Given the description of an element on the screen output the (x, y) to click on. 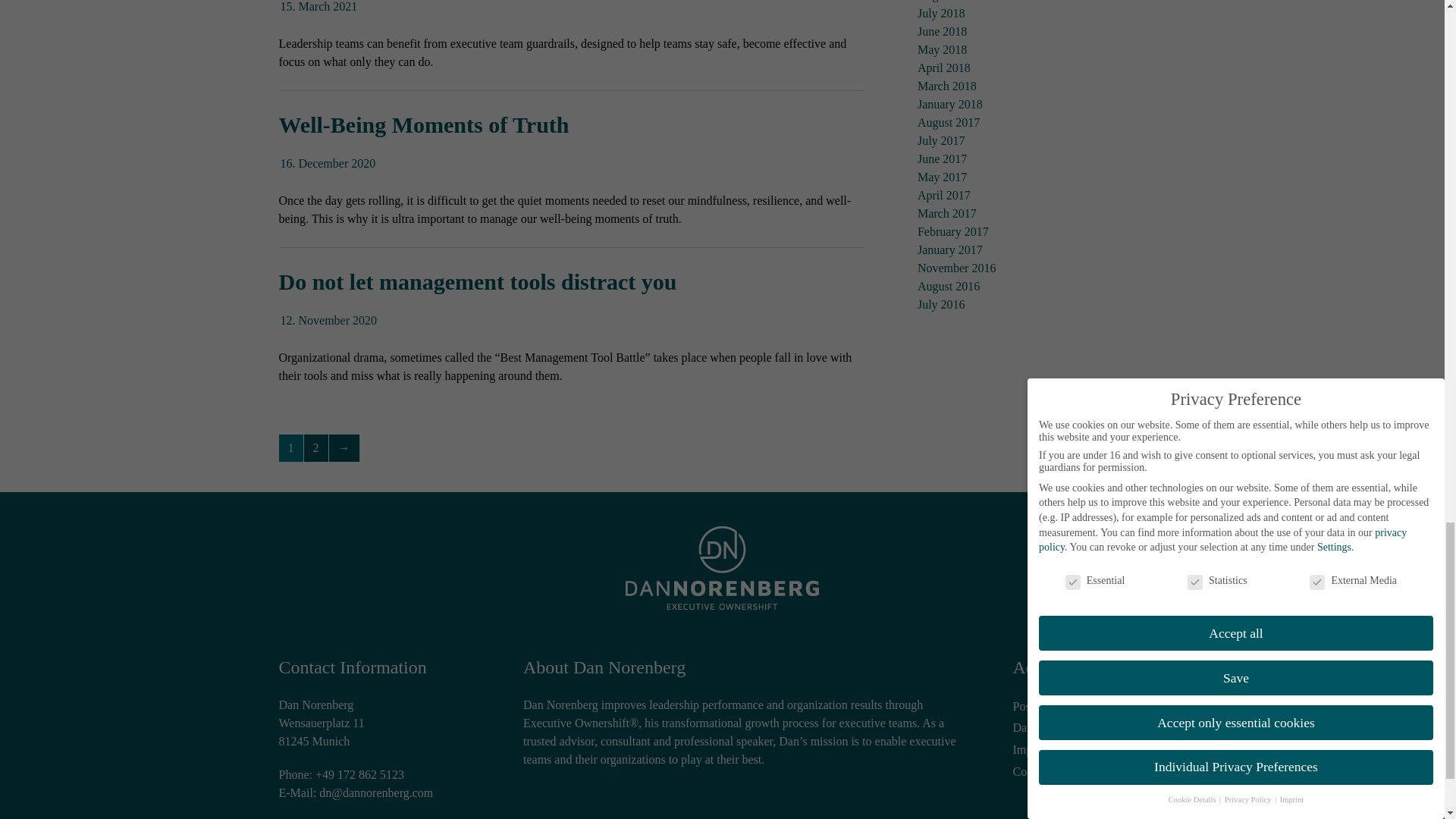
16. December 2020 (328, 163)
12. November 2020 (329, 319)
2 (314, 447)
Well-Being Moments of Truth (424, 124)
15. March 2021 (319, 6)
Do not let management tools distract you (478, 281)
